Given the description of an element on the screen output the (x, y) to click on. 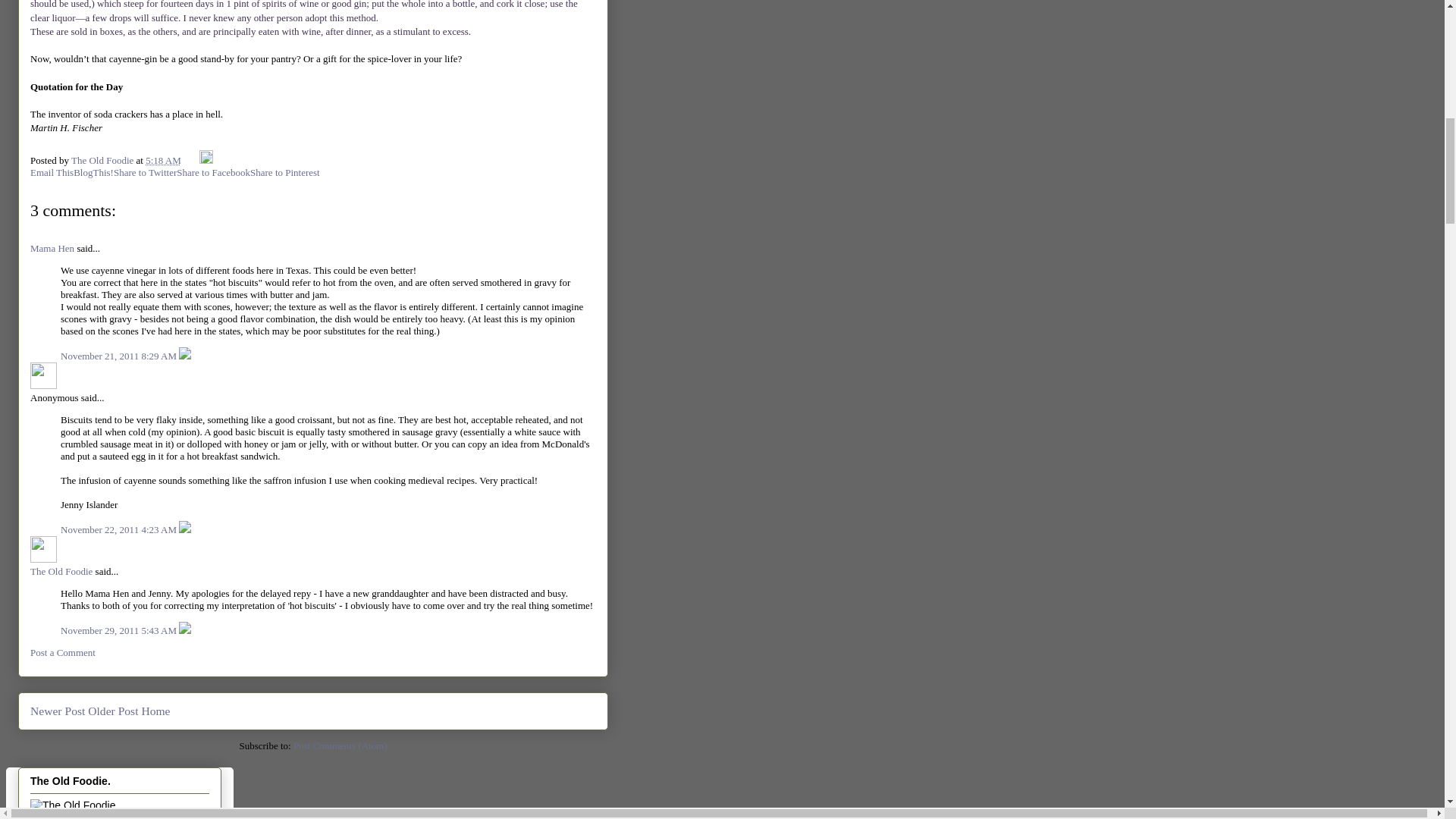
Share to Twitter (144, 172)
Share to Facebook (213, 172)
Email This (52, 172)
The Old Foodie (61, 571)
Share to Facebook (213, 172)
author profile (103, 160)
BlogThis! (93, 172)
Edit Post (205, 160)
BlogThis! (93, 172)
Delete Comment (184, 355)
Share to Pinterest (285, 172)
Delete Comment (184, 529)
Share to Pinterest (285, 172)
Older Post (112, 710)
November 29, 2011 5:43 AM (120, 630)
